Given the description of an element on the screen output the (x, y) to click on. 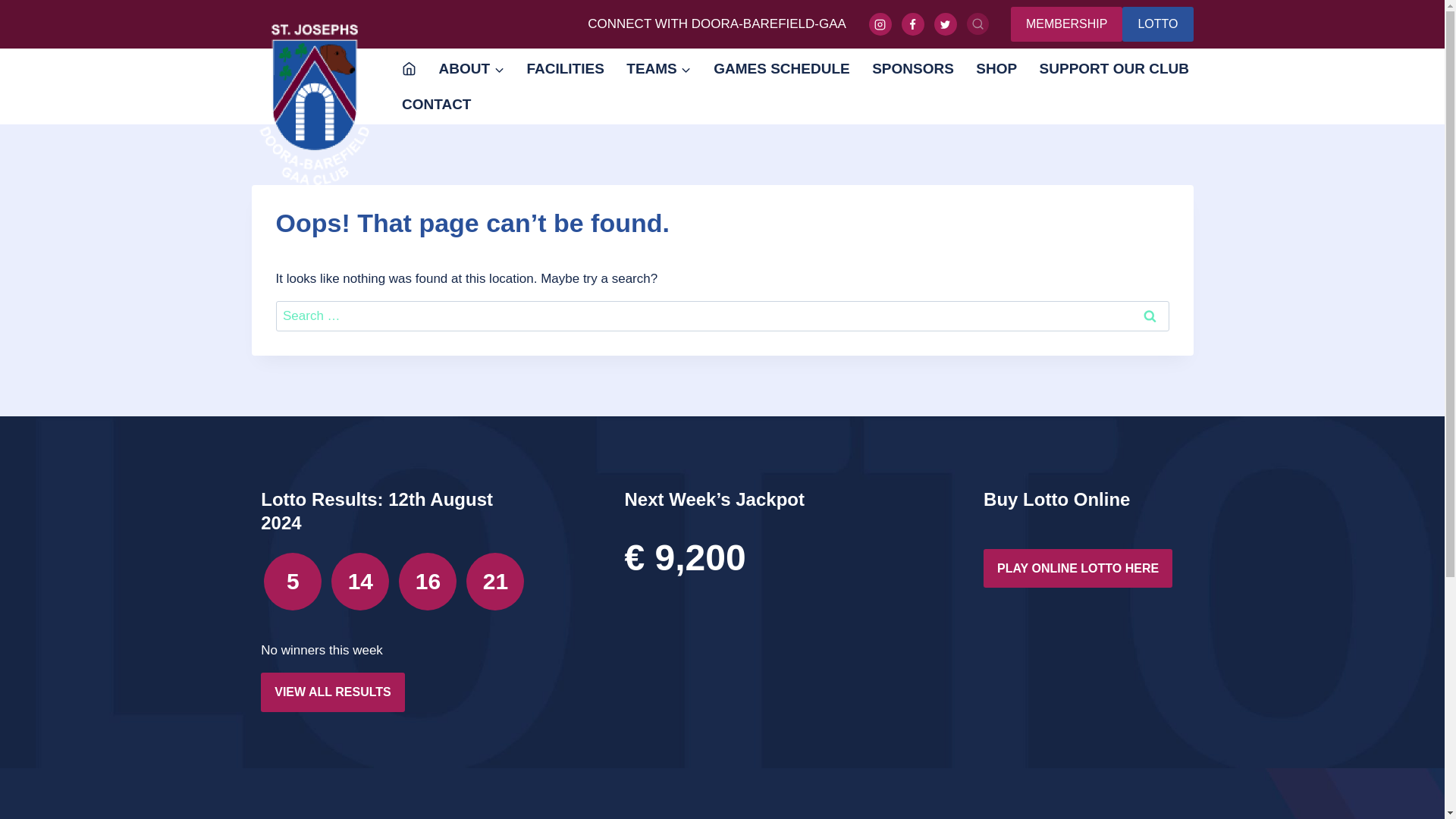
MEMBERSHIP (1066, 23)
GAMES SCHEDULE (781, 68)
CONTACT (435, 104)
SPONSORS (912, 68)
Search (1150, 316)
TEAMS (659, 68)
LOTTO (1157, 23)
Search (1150, 316)
ABOUT (471, 68)
FACILITIES (565, 68)
